Given the description of an element on the screen output the (x, y) to click on. 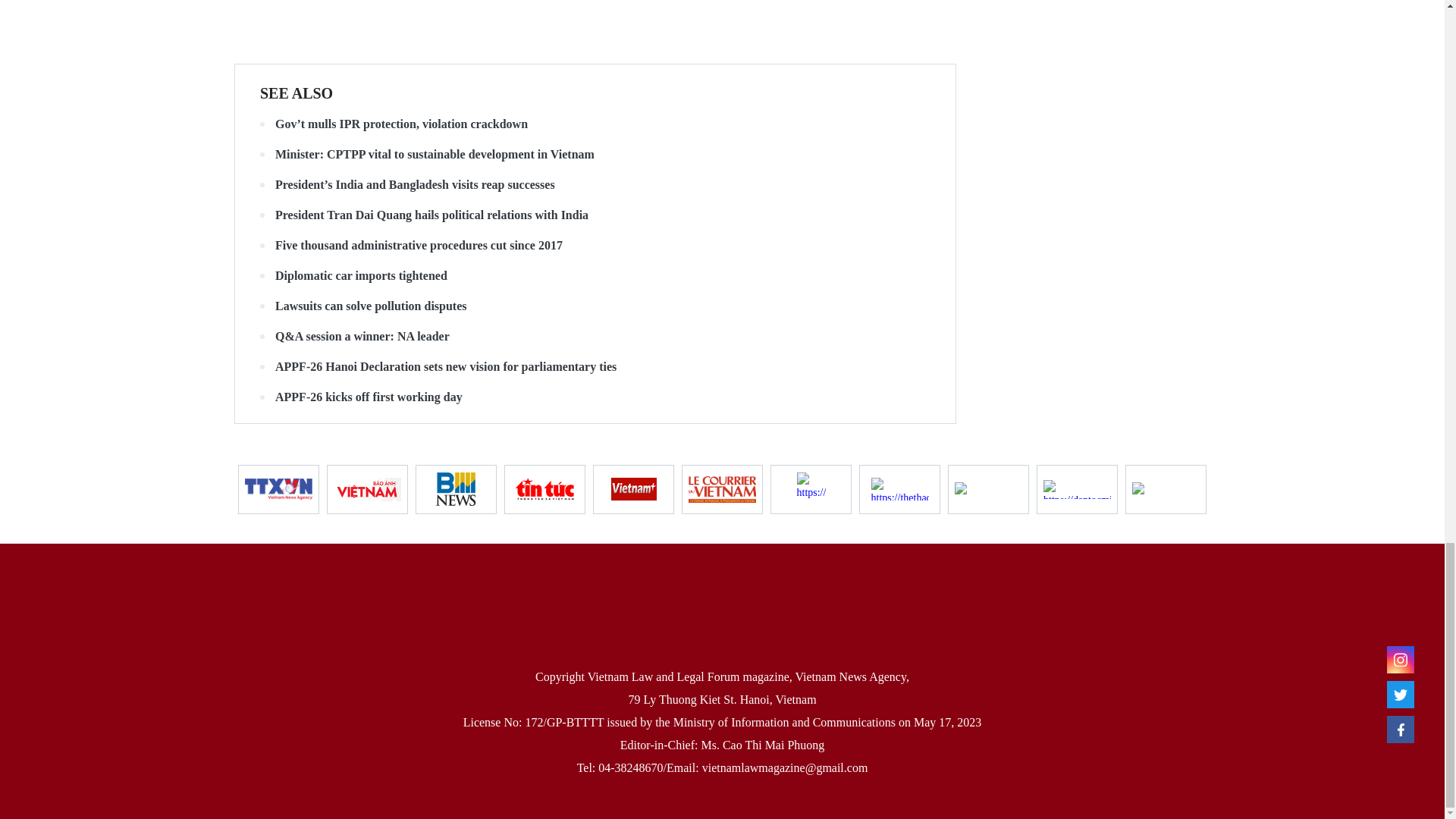
Five thousand administrative procedures cut since 2017 (595, 245)
Diplomatic car imports tightened (595, 275)
SEE ALSO (296, 93)
Minister: CPTPP vital to sustainable development in Vietnam (595, 154)
